Given the description of an element on the screen output the (x, y) to click on. 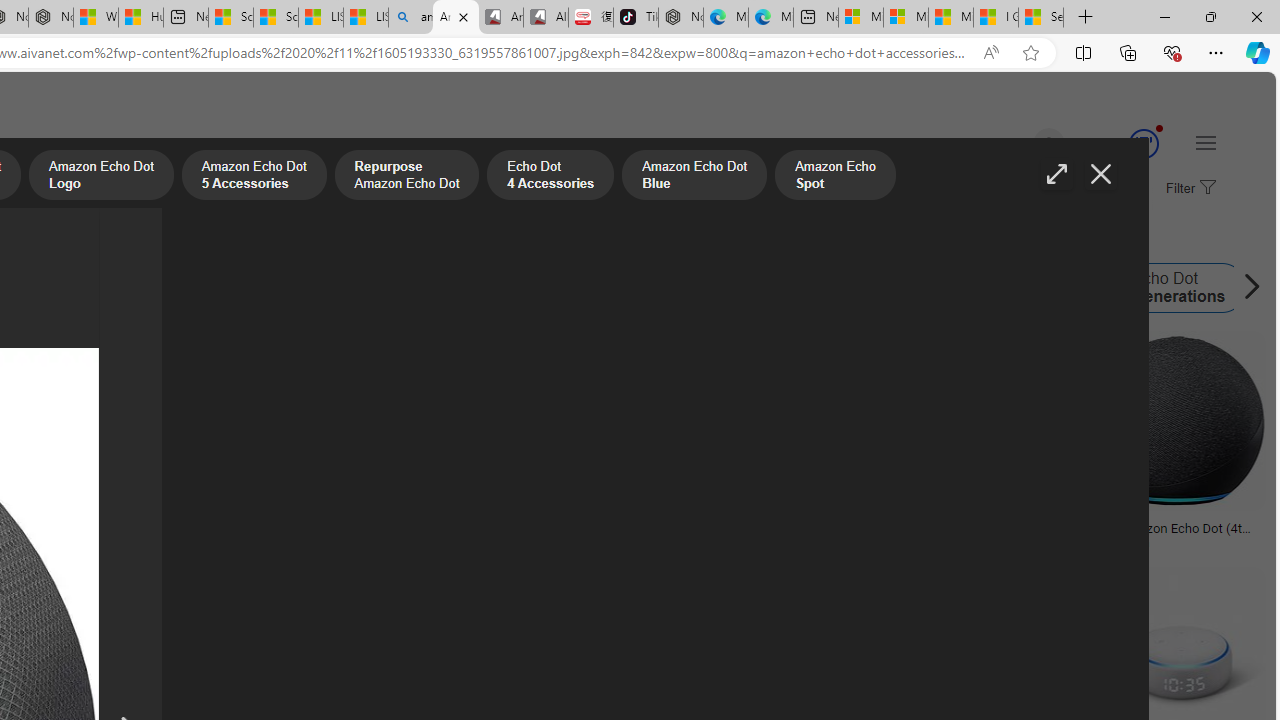
Amazon Echo Spot (708, 287)
Scroll right (1246, 287)
pixabay.com (732, 541)
pnghq.com (49, 541)
